Given the description of an element on the screen output the (x, y) to click on. 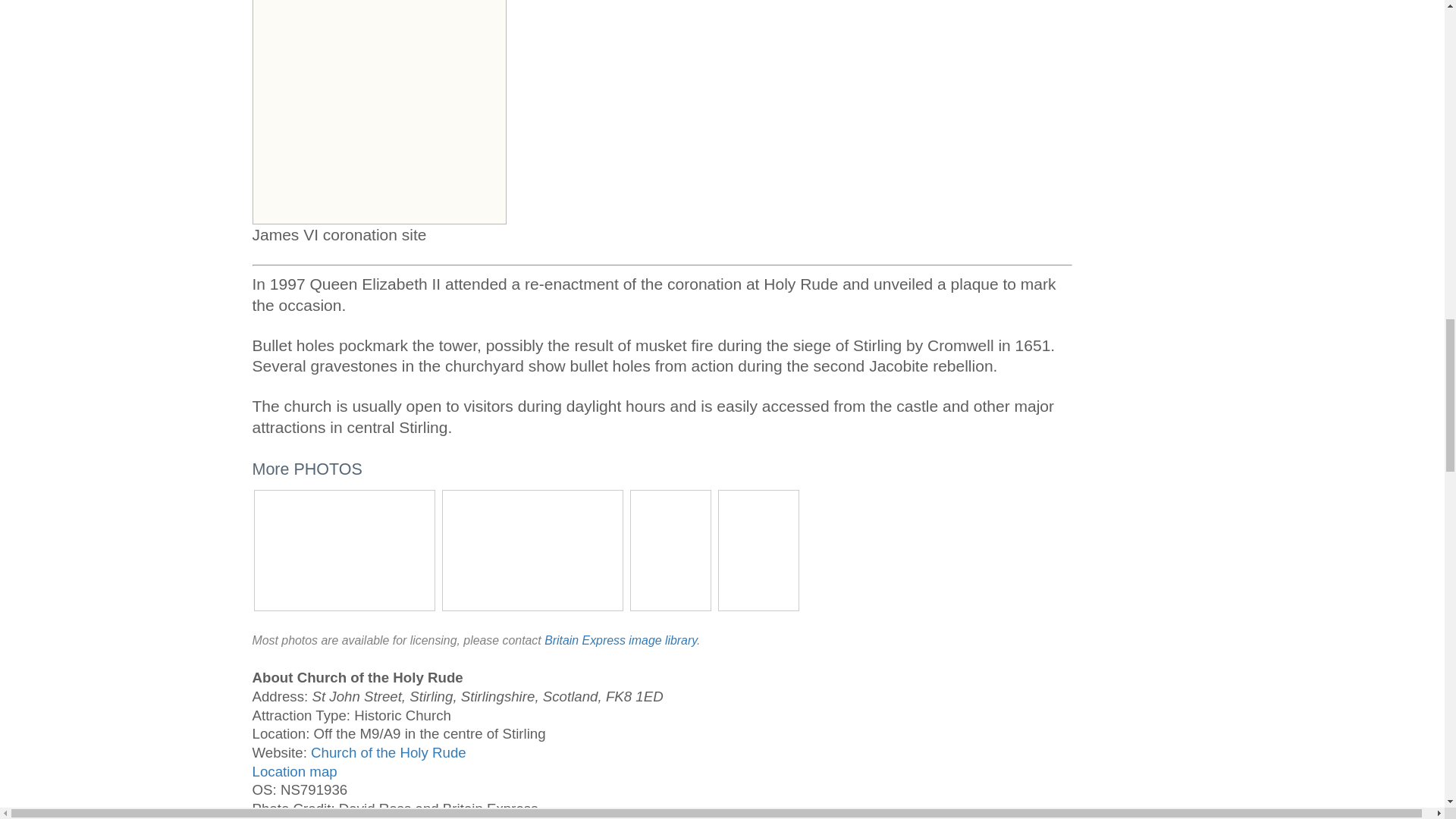
Church nave (532, 548)
Gravestone with bullet marks (670, 548)
The church nave and pillars (758, 548)
Exterior view (343, 548)
